Given the description of an element on the screen output the (x, y) to click on. 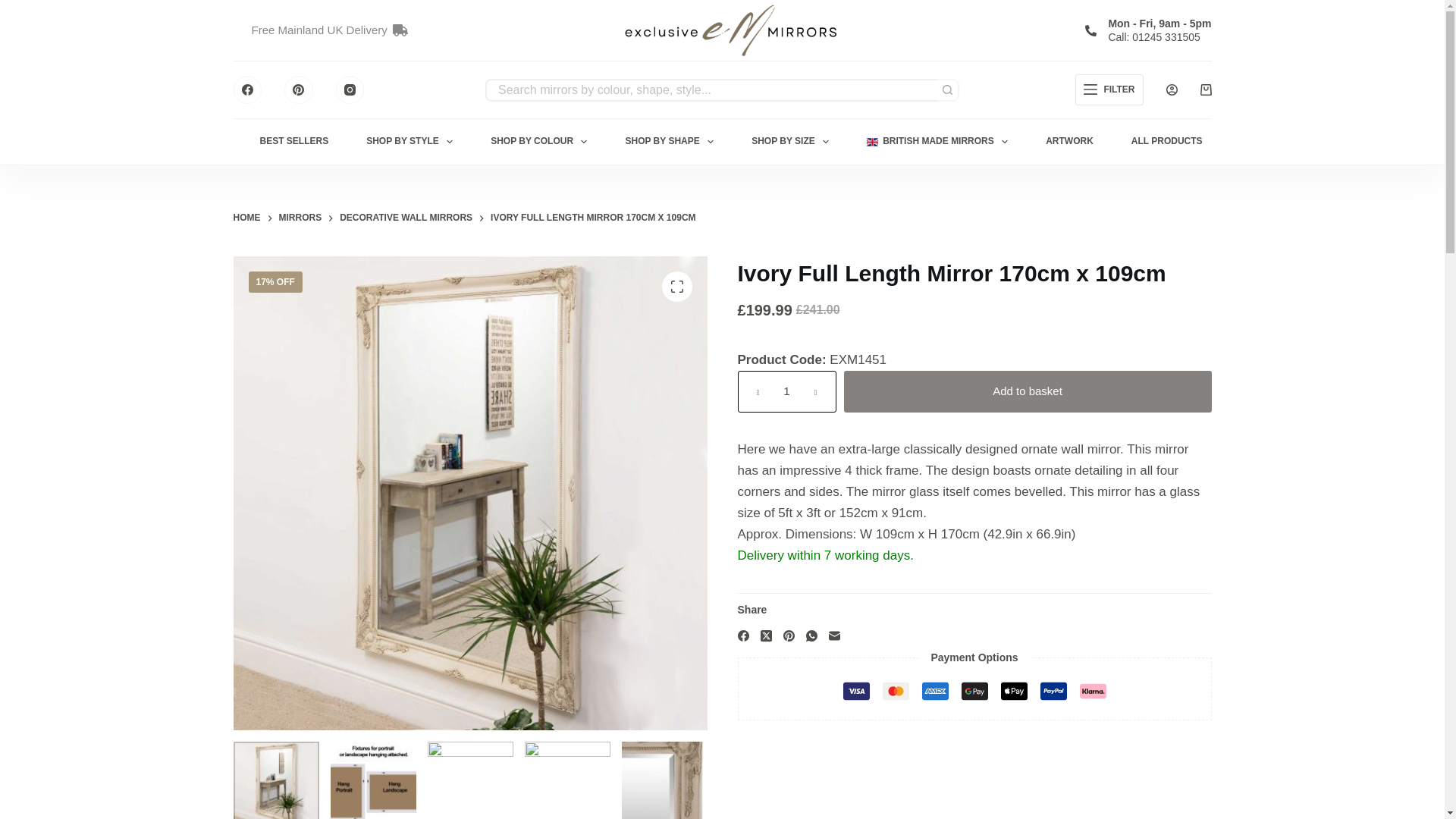
Search for... (710, 89)
1 (785, 391)
Skip to content (15, 7)
